Given the description of an element on the screen output the (x, y) to click on. 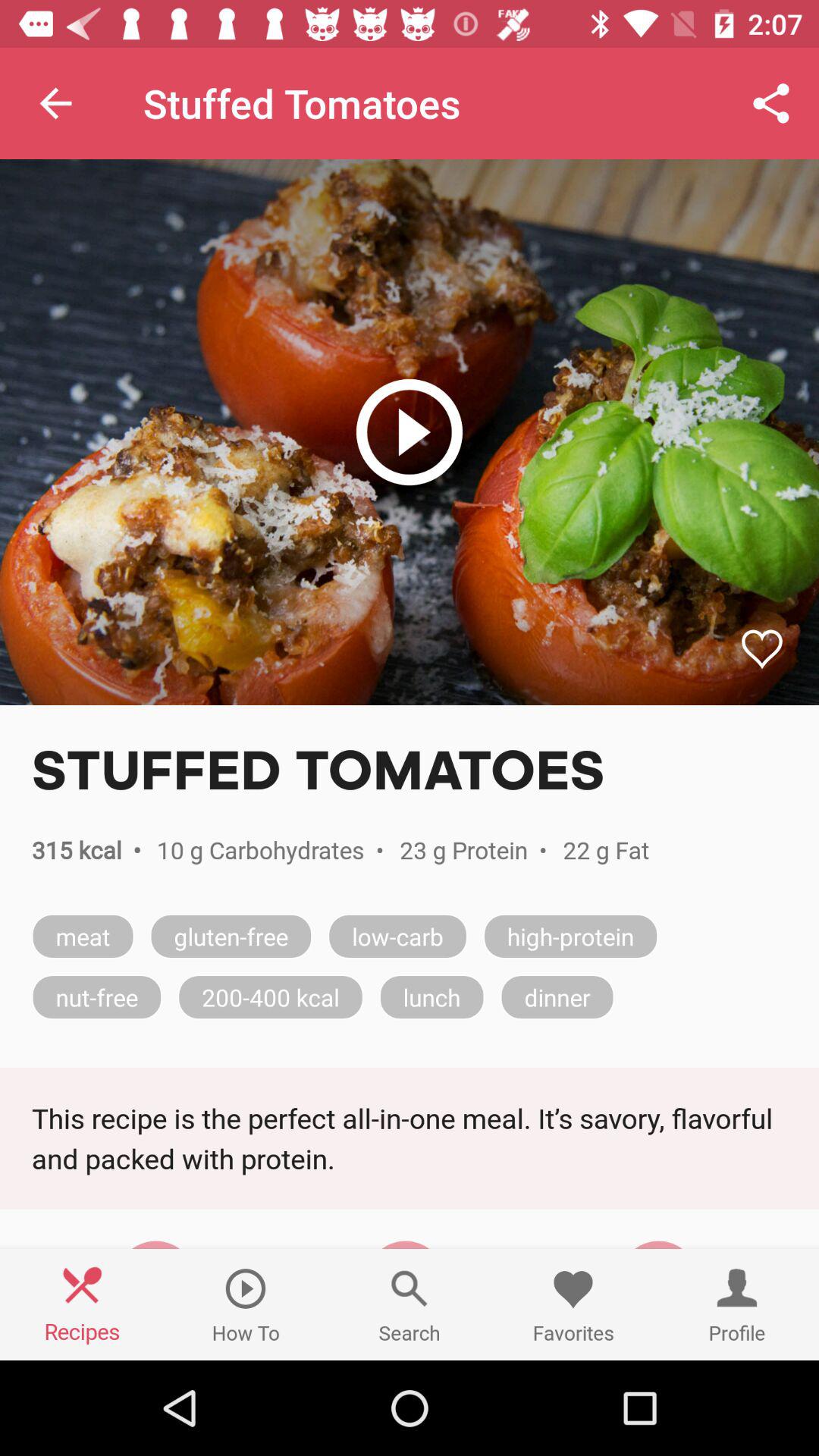
choose the icon at the top left corner (55, 103)
